Given the description of an element on the screen output the (x, y) to click on. 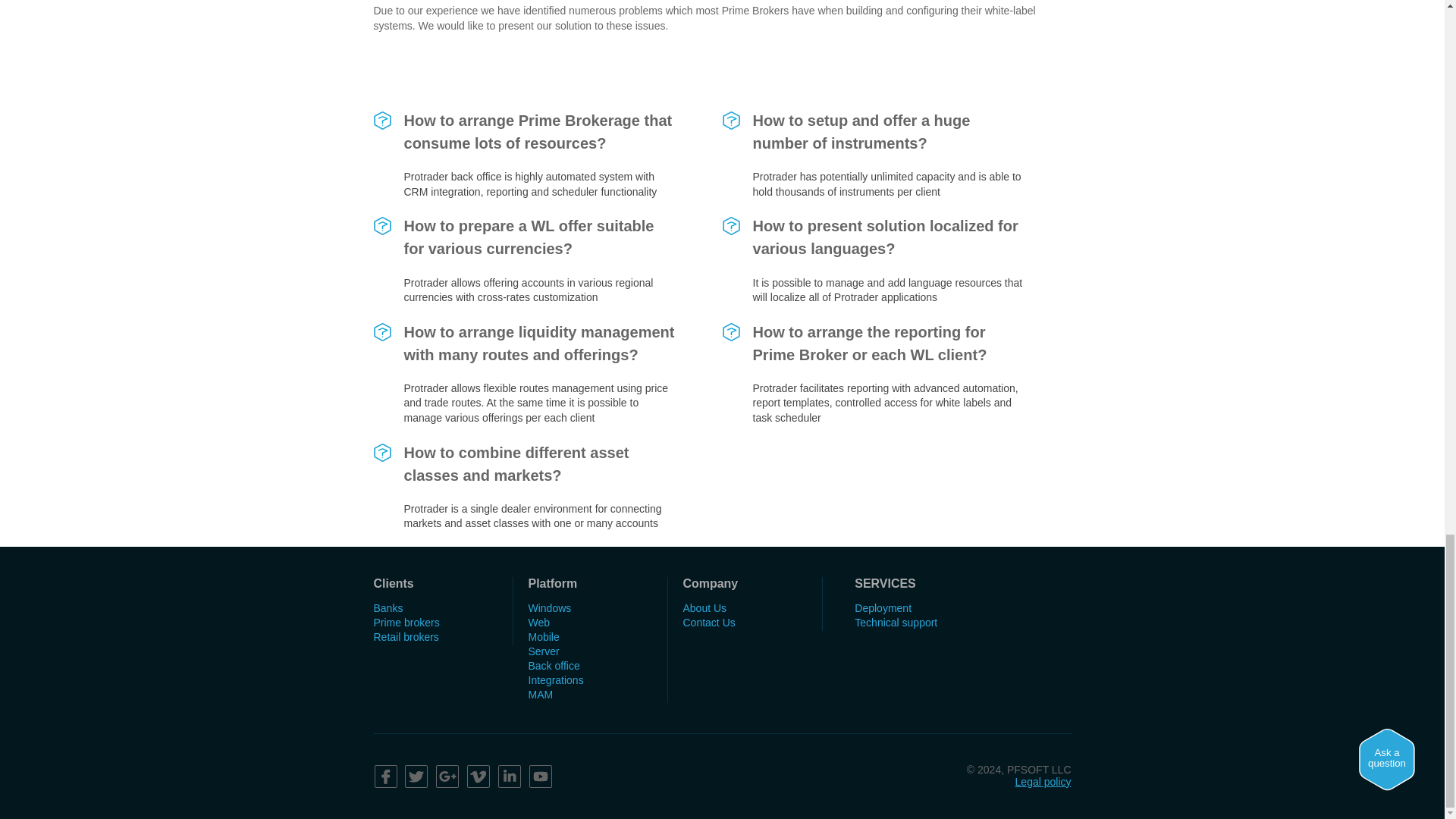
Contact Us (708, 622)
Server (543, 651)
Windows (548, 607)
www.protrader.com (645, 317)
Technical support (895, 622)
Send feedback (721, 394)
Deployment (882, 607)
Web (538, 622)
Banks (387, 607)
Send feedback (721, 394)
Mobile (543, 636)
About Us (704, 607)
Integrations (555, 680)
Back office (553, 665)
MAM (540, 694)
